Given the description of an element on the screen output the (x, y) to click on. 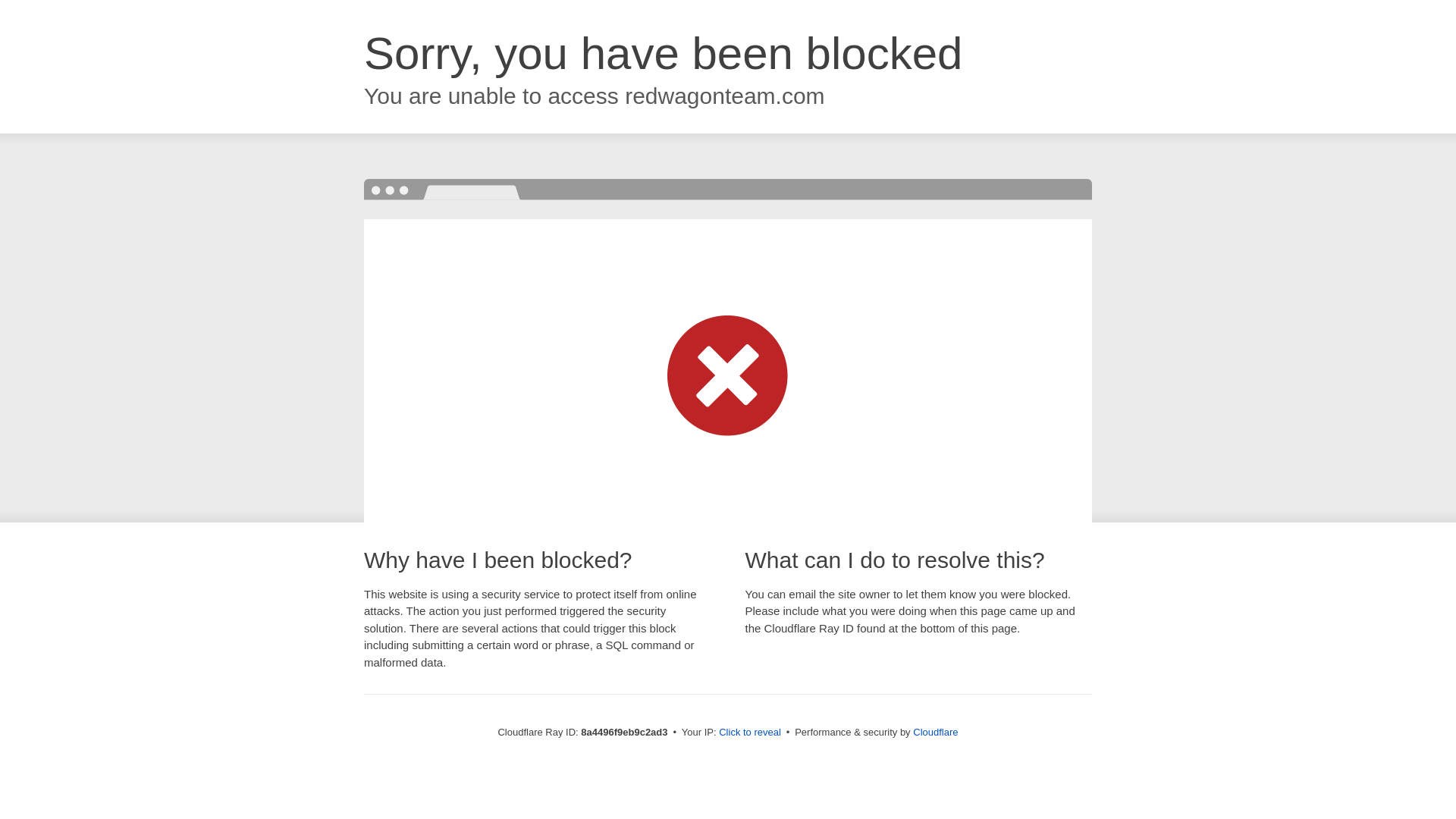
Click to reveal (749, 732)
Cloudflare (935, 731)
